Given the description of an element on the screen output the (x, y) to click on. 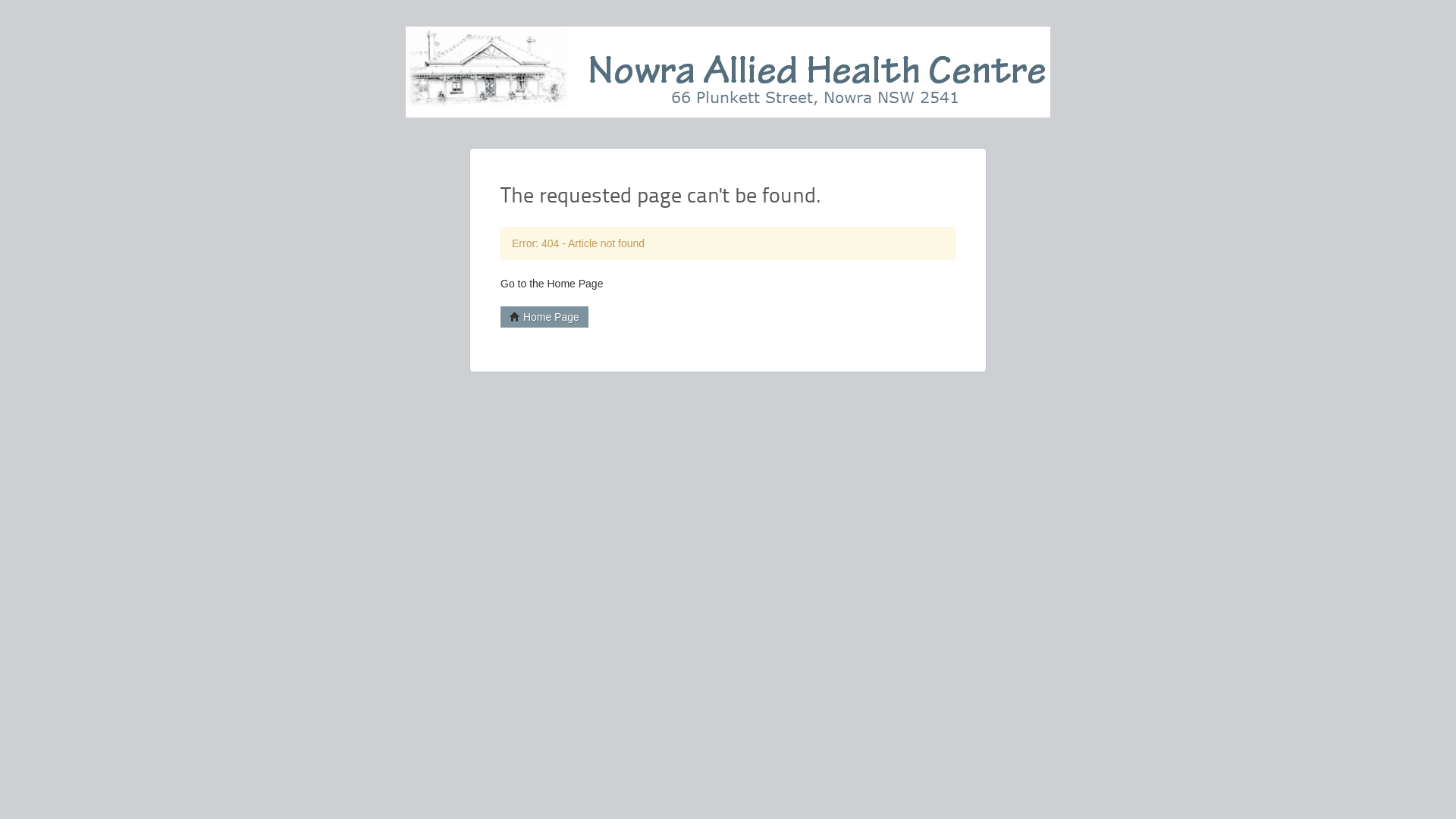
Home Page Element type: text (544, 316)
